Given the description of an element on the screen output the (x, y) to click on. 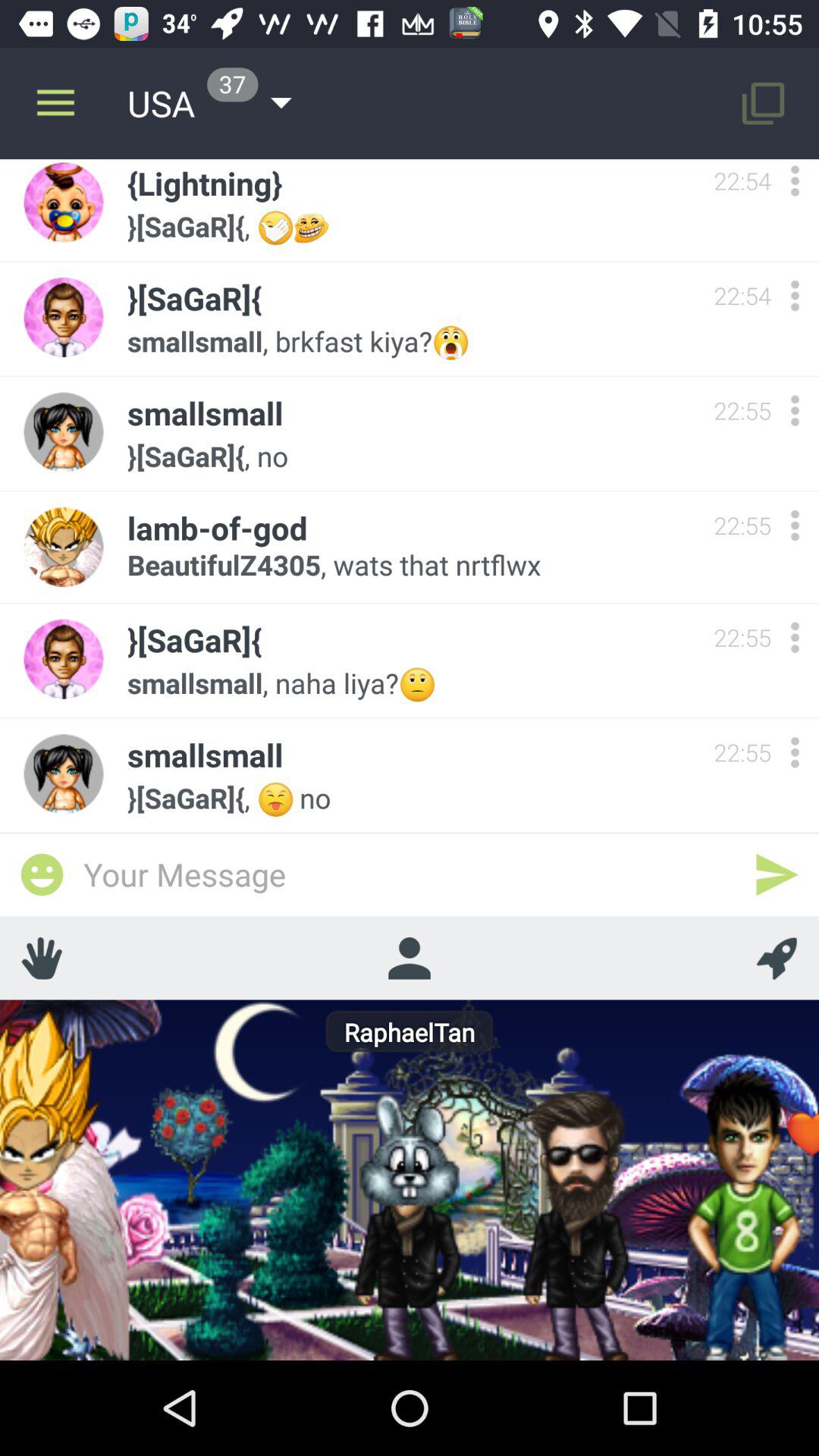
view options (795, 295)
